Given the description of an element on the screen output the (x, y) to click on. 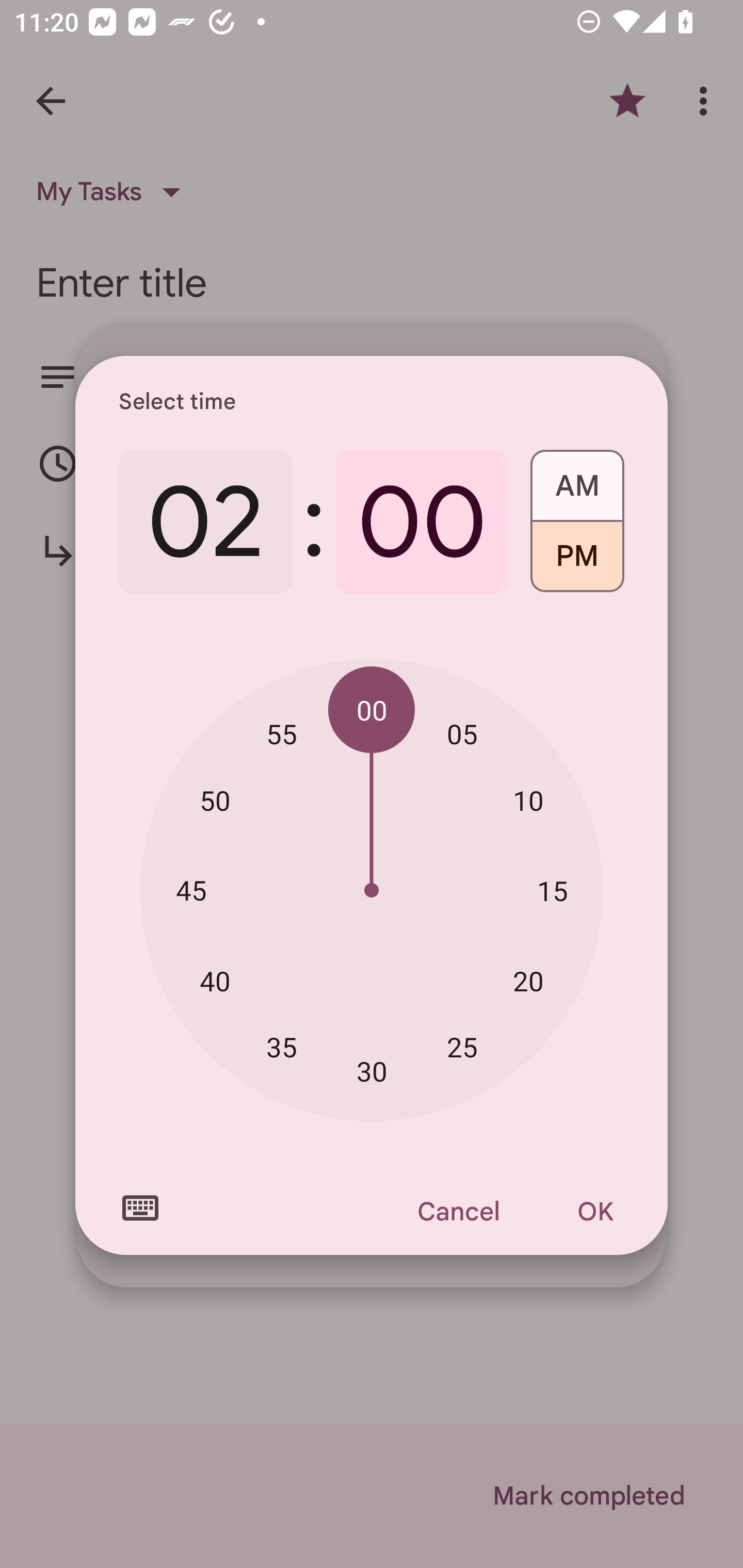
AM (577, 478)
02 2 o'clock (204, 522)
00 0 minutes (421, 522)
PM (577, 563)
00 00 minutes (371, 710)
55 55 minutes (281, 733)
05 05 minutes (462, 733)
50 50 minutes (214, 800)
10 10 minutes (528, 800)
45 45 minutes (190, 889)
15 15 minutes (551, 890)
40 40 minutes (214, 980)
20 20 minutes (528, 980)
35 35 minutes (281, 1046)
25 25 minutes (462, 1046)
30 30 minutes (371, 1071)
Switch to text input mode for the time input. (140, 1208)
Cancel (458, 1211)
OK (595, 1211)
